Given the description of an element on the screen output the (x, y) to click on. 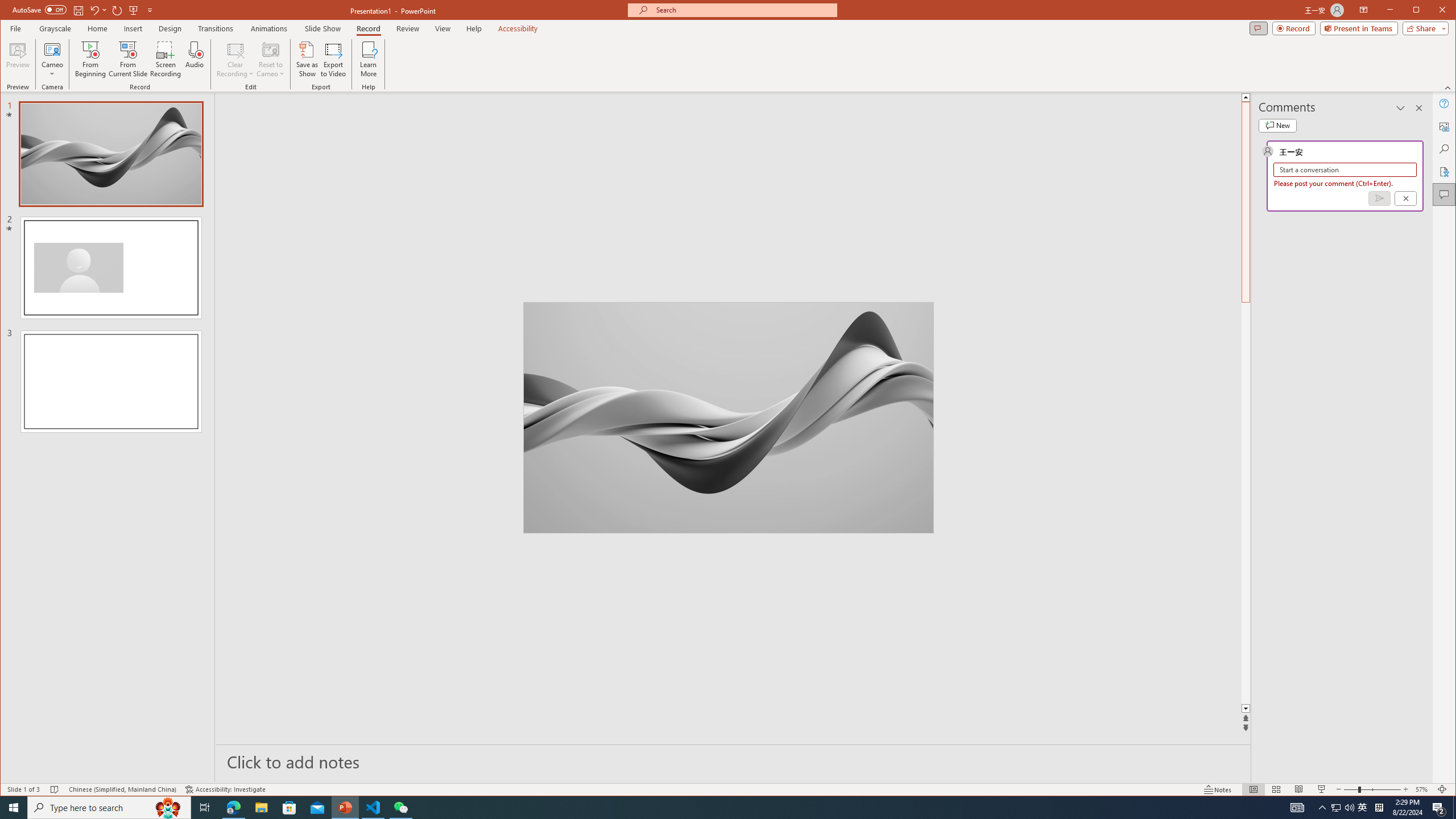
New comment (1277, 125)
